Given the description of an element on the screen output the (x, y) to click on. 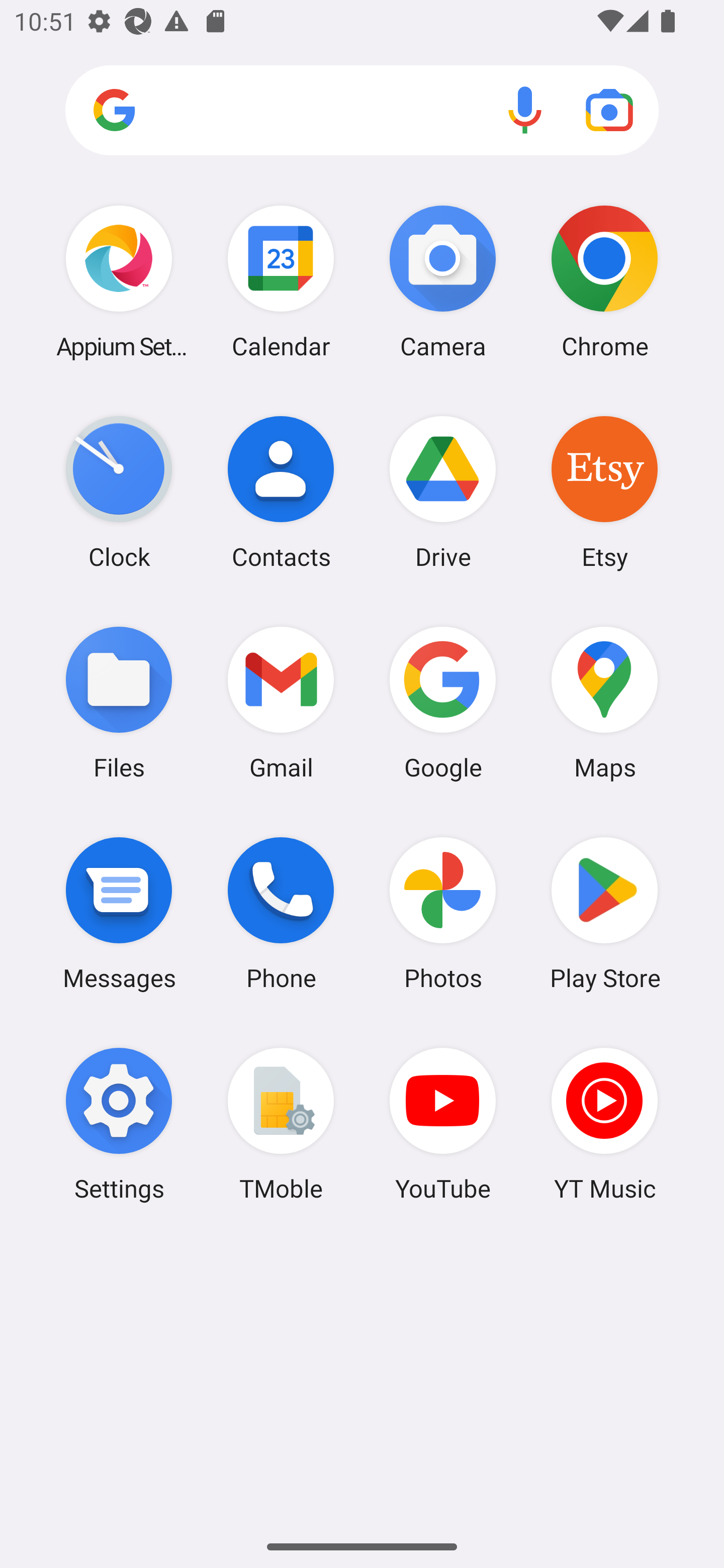
Search apps, web and more (361, 110)
Voice search (524, 109)
Google Lens (608, 109)
Appium Settings (118, 281)
Calendar (280, 281)
Camera (443, 281)
Chrome (604, 281)
Clock (118, 492)
Contacts (280, 492)
Drive (443, 492)
Etsy (604, 492)
Files (118, 702)
Gmail (280, 702)
Google (443, 702)
Maps (604, 702)
Messages (118, 913)
Phone (280, 913)
Photos (443, 913)
Play Store (604, 913)
Settings (118, 1124)
TMoble (280, 1124)
YouTube (443, 1124)
YT Music (604, 1124)
